Given the description of an element on the screen output the (x, y) to click on. 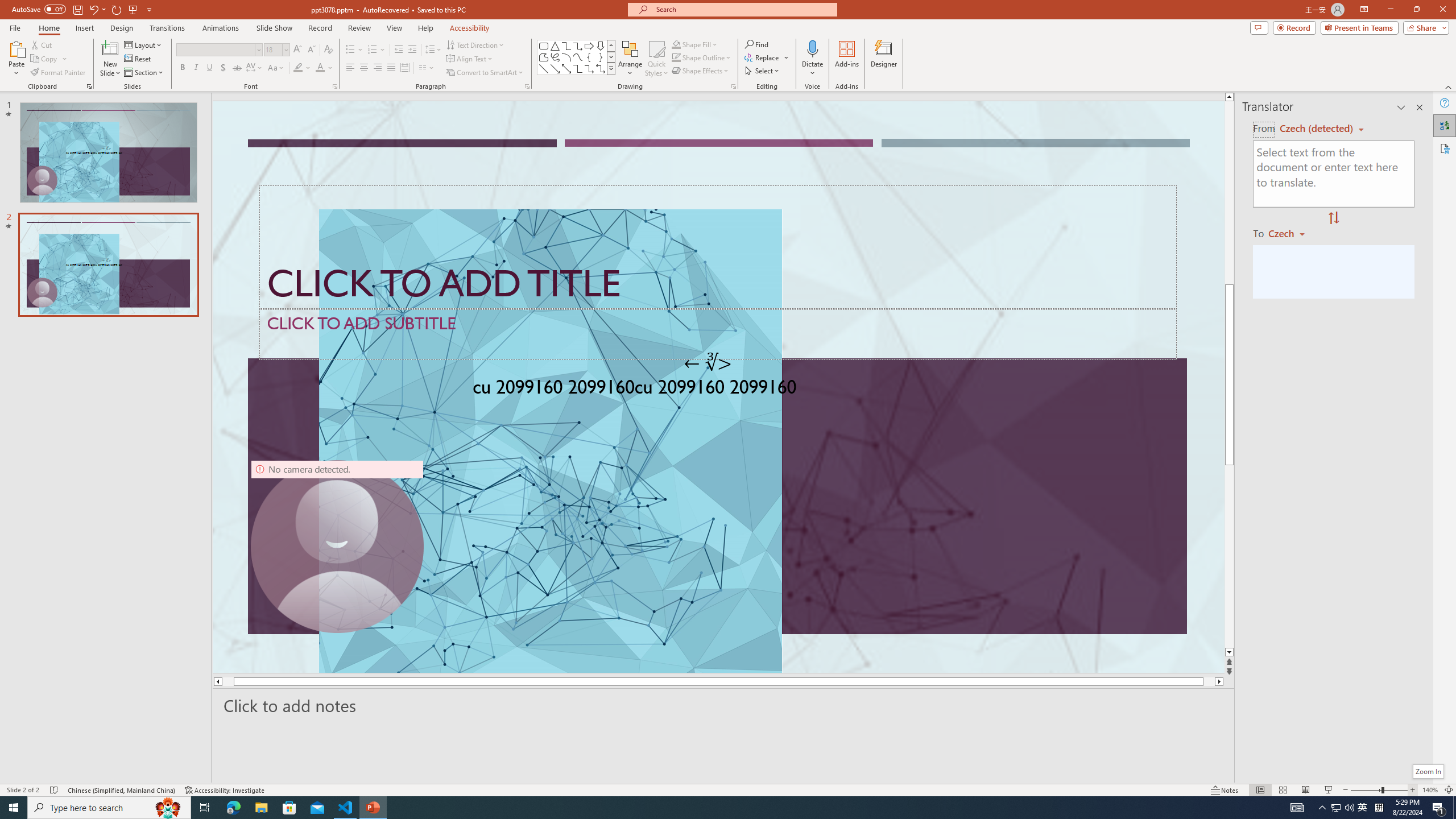
Camera 9, No camera detected. (336, 546)
